Given the description of an element on the screen output the (x, y) to click on. 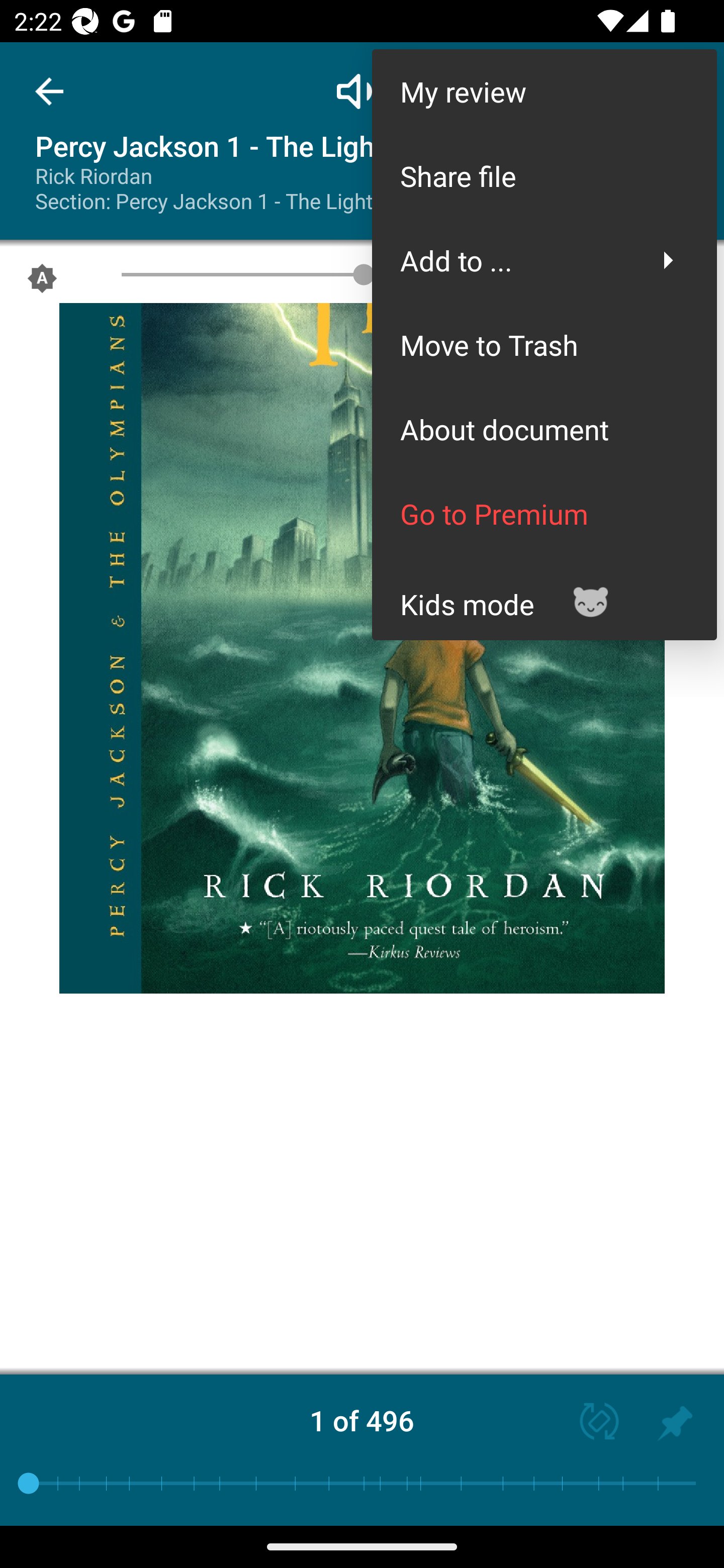
My review (544, 90)
Share file (544, 175)
Add to ... (544, 259)
Move to Trash (544, 344)
About document (544, 429)
Go to Premium (544, 513)
Kids mode     * (544, 597)
